Given the description of an element on the screen output the (x, y) to click on. 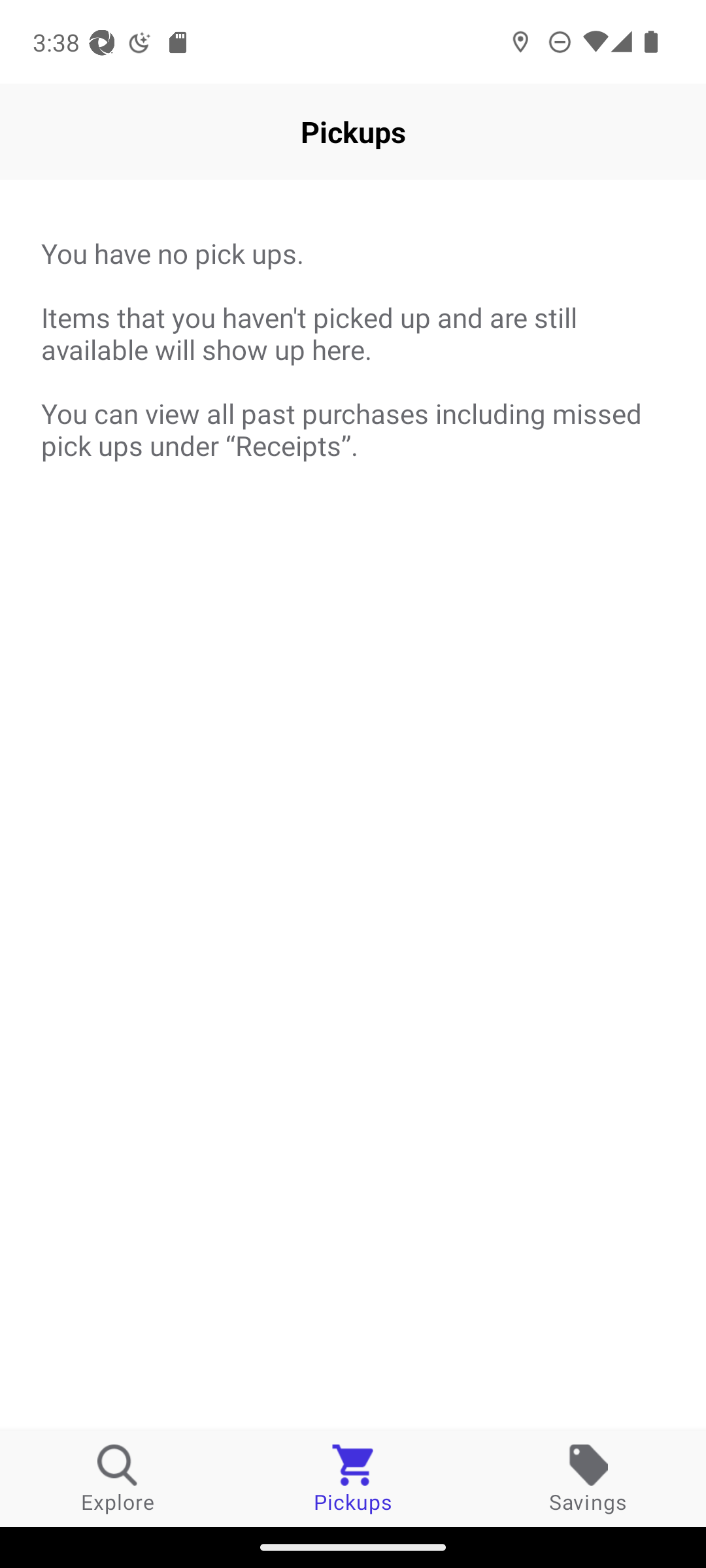
Explore (117, 1478)
Savings (588, 1478)
